Given the description of an element on the screen output the (x, y) to click on. 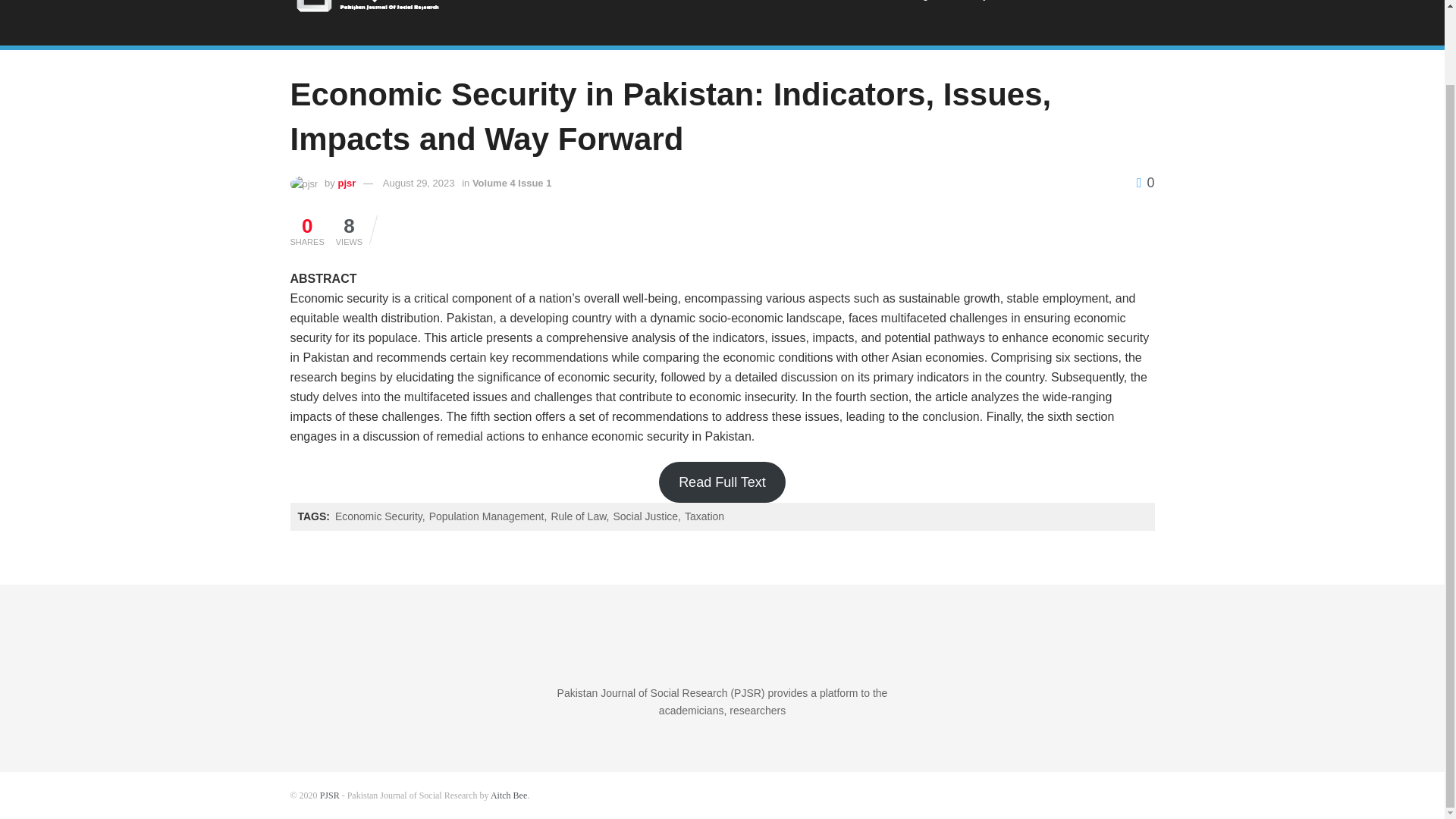
PJSR (329, 795)
0 (1145, 182)
Taxation (703, 516)
Volume 4 Issue 1 (511, 183)
Home (695, 8)
Rule of Law (579, 516)
Aitch Bee (508, 795)
Economic Security (379, 516)
Submit Article (1044, 8)
Archives (1121, 8)
pjsr (346, 183)
Population Management (488, 516)
Social Justice (645, 516)
August 29, 2023 (418, 183)
Read Full Text (722, 481)
